Given the description of an element on the screen output the (x, y) to click on. 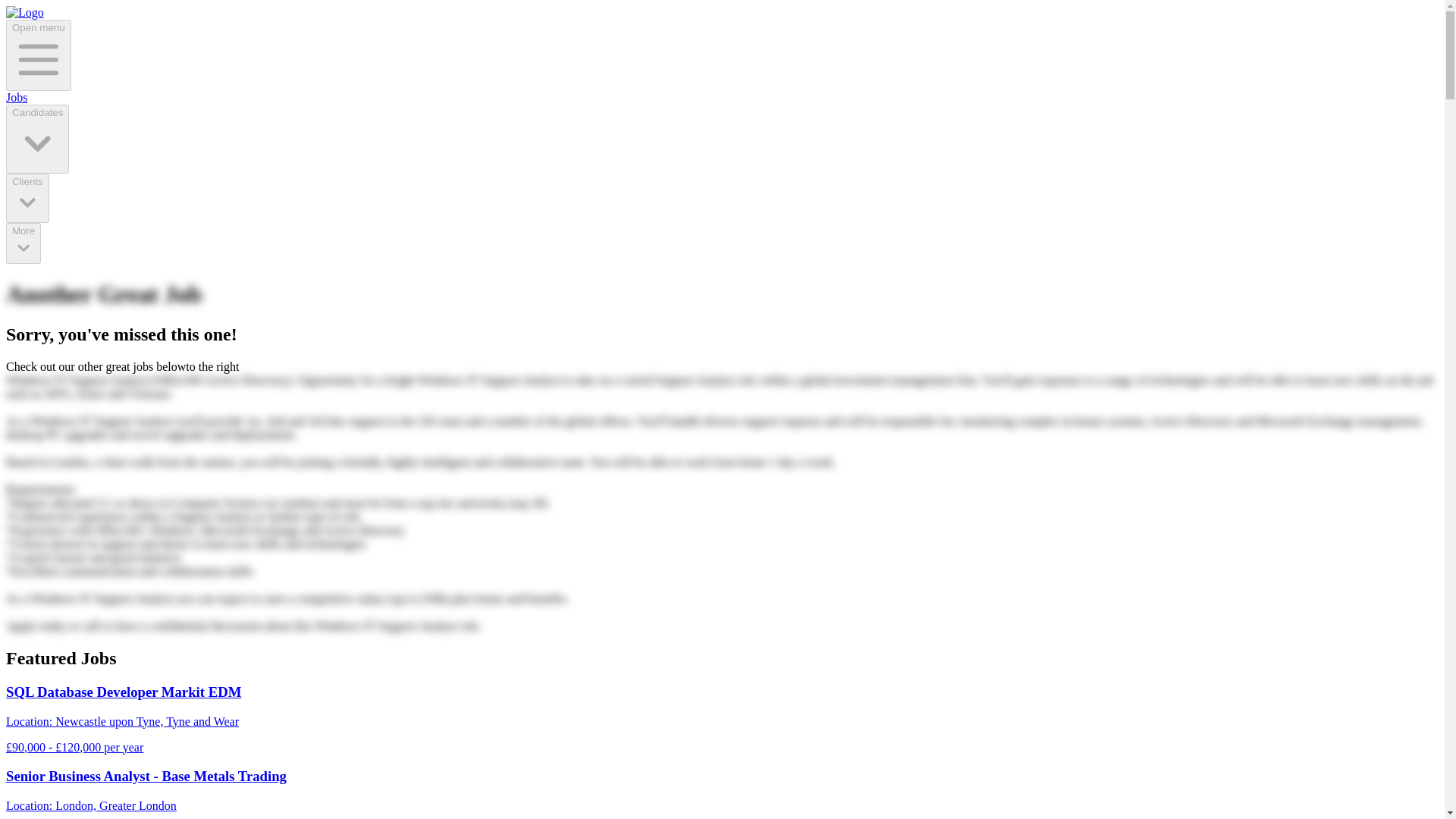
More (22, 242)
Candidates (36, 138)
Open menu (38, 54)
Jobs (16, 97)
Clients (27, 197)
